Given the description of an element on the screen output the (x, y) to click on. 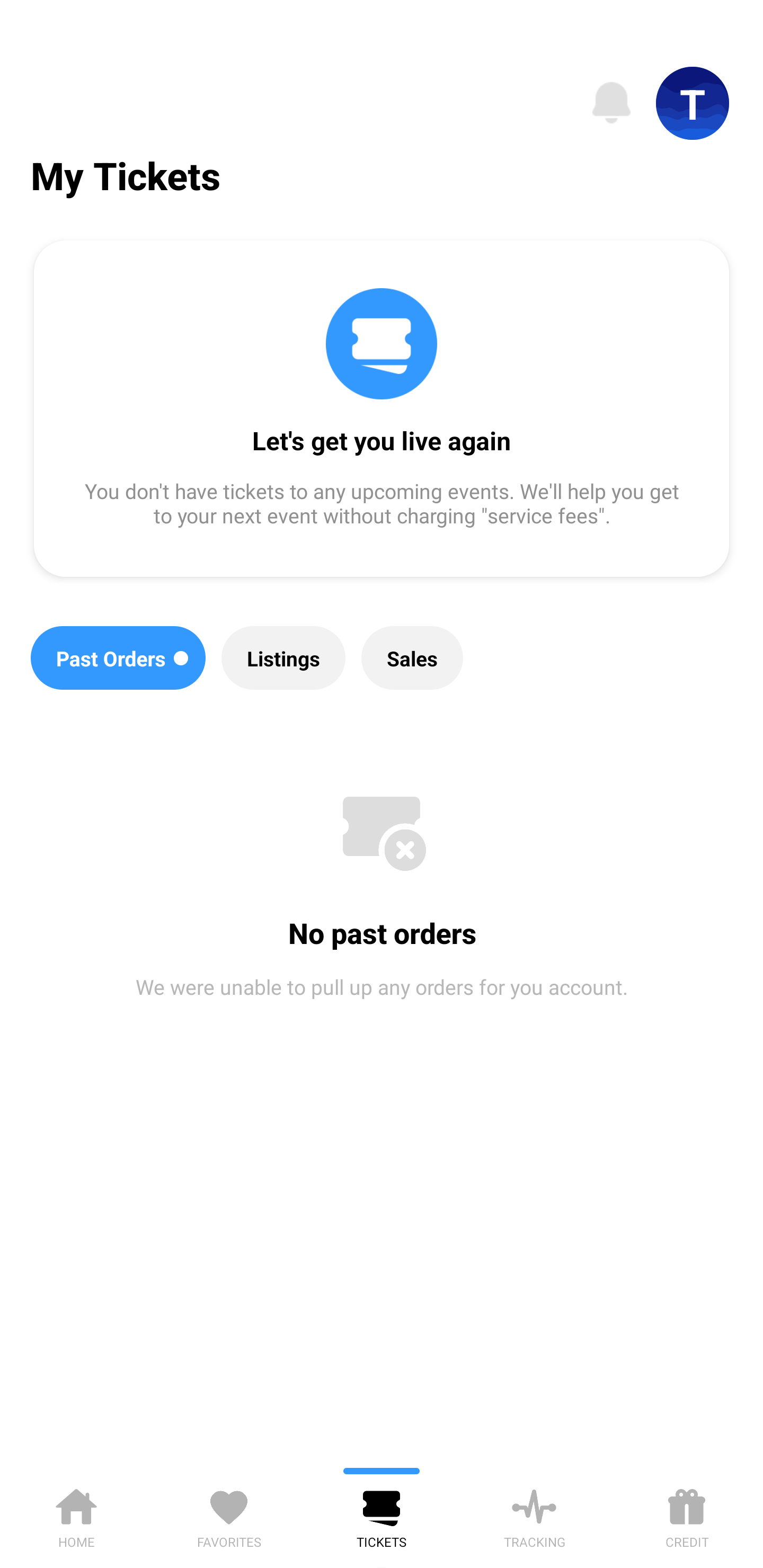
T (692, 103)
Past Orders (117, 657)
Listings (283, 657)
Sales (412, 657)
HOME (76, 1515)
FAVORITES (228, 1515)
TICKETS (381, 1515)
TRACKING (533, 1515)
CREDIT (686, 1515)
